Given the description of an element on the screen output the (x, y) to click on. 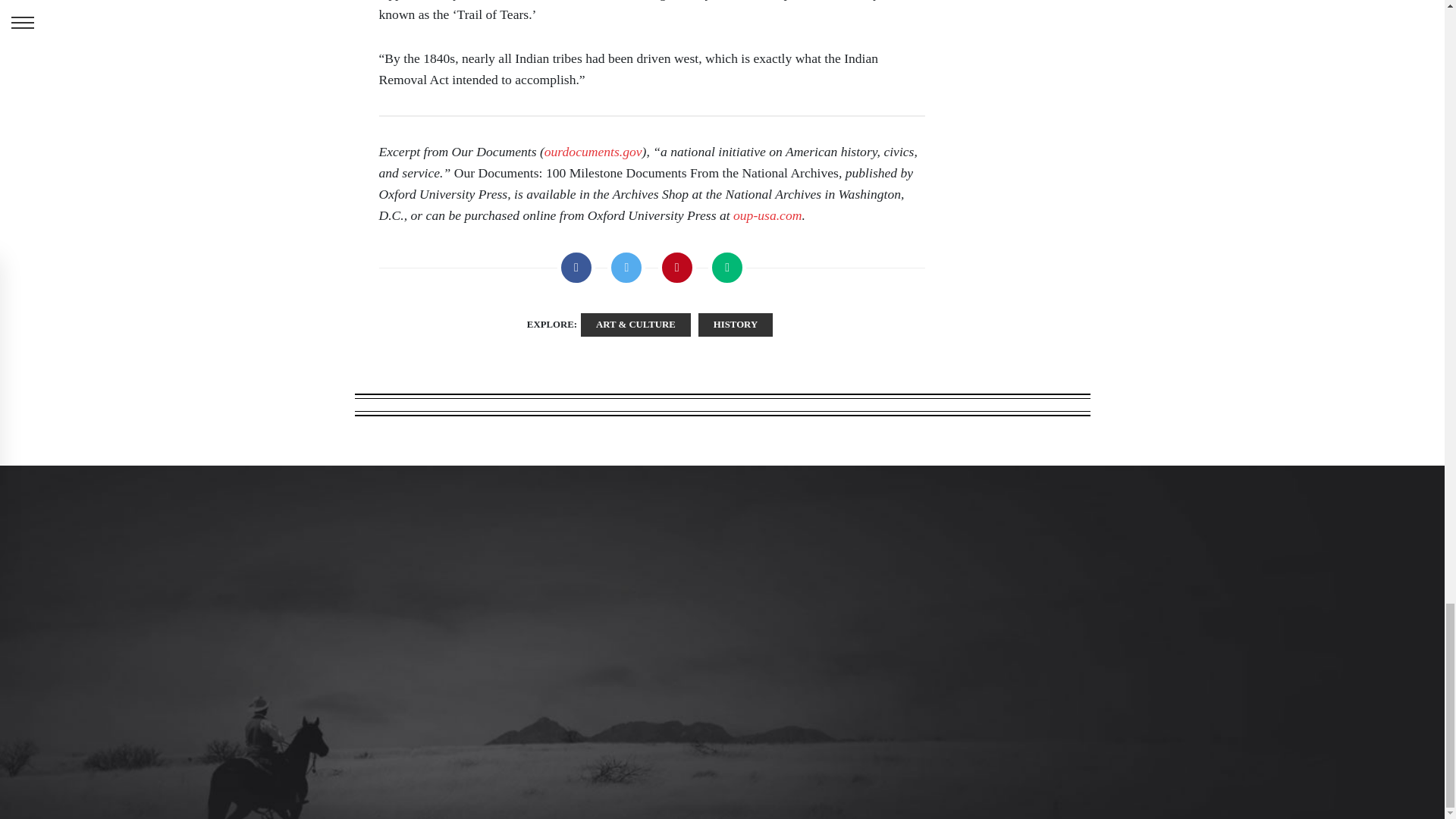
Tweet This Post (626, 267)
Share by Email (726, 267)
Share on Facebook (576, 267)
